Given the description of an element on the screen output the (x, y) to click on. 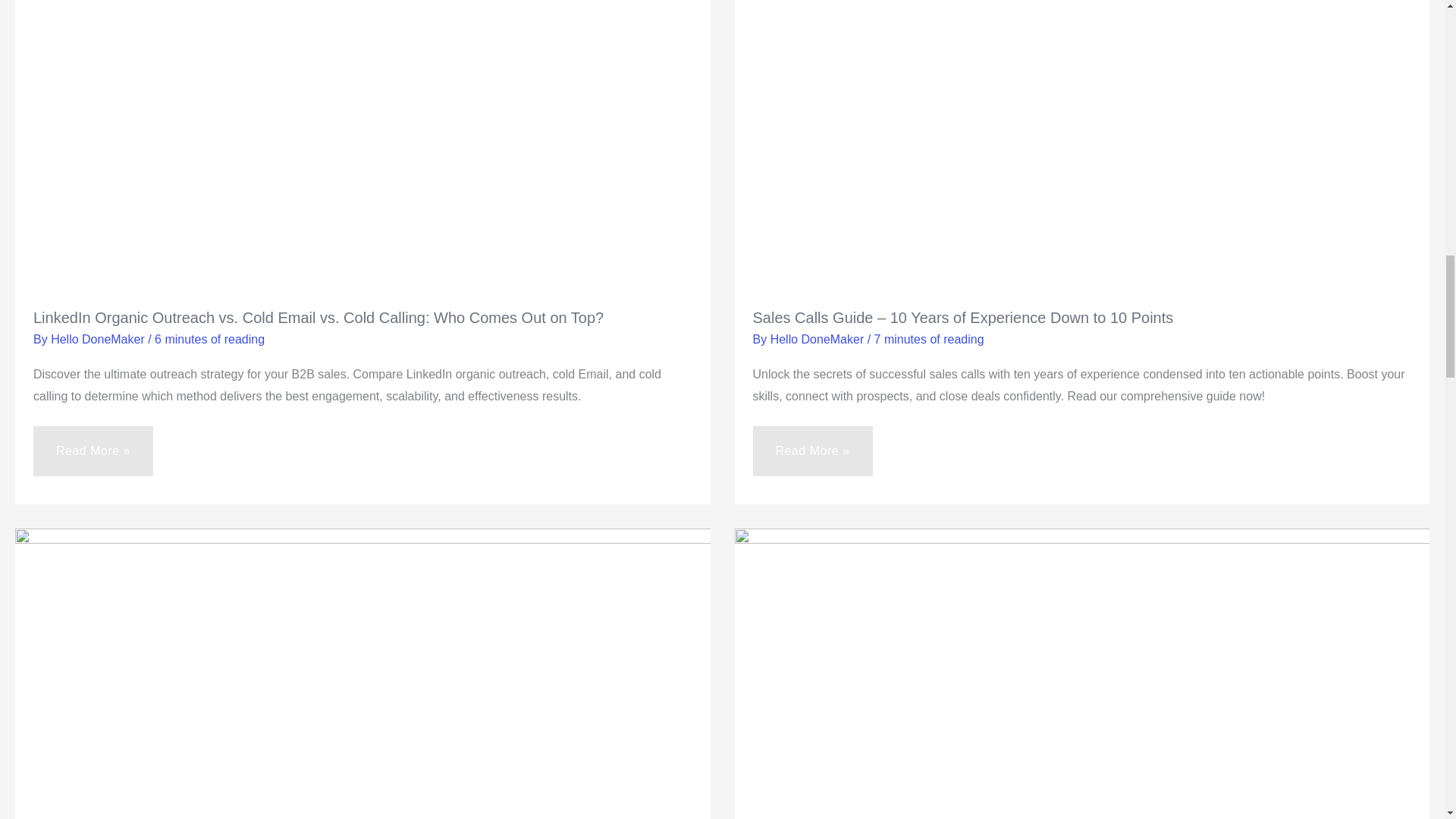
Hello DoneMaker (818, 338)
View all posts by Hello DoneMaker (99, 338)
View all posts by Hello DoneMaker (818, 338)
Hello DoneMaker (99, 338)
